Given the description of an element on the screen output the (x, y) to click on. 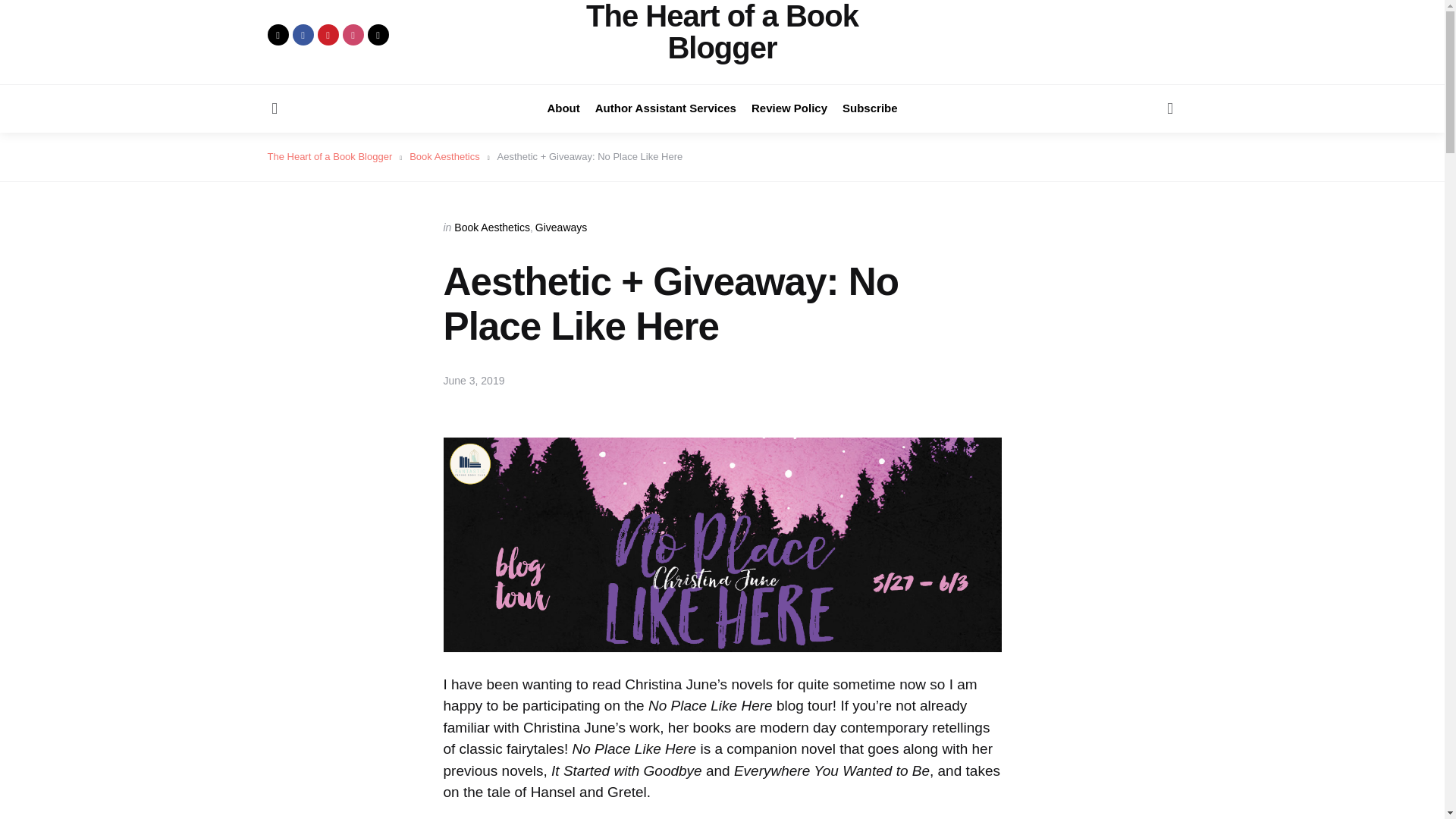
Go to the Book Aesthetics Category archives. (444, 155)
About (563, 108)
Go to The Heart of a Book Blogger. (328, 155)
The Heart of a Book Blogger (721, 31)
Book Aesthetics (444, 155)
The Heart of a Book Blogger (328, 155)
Author Assistant Services (665, 108)
Review Policy (789, 108)
Giveaways (560, 227)
Book Aesthetics (491, 227)
